Given the description of an element on the screen output the (x, y) to click on. 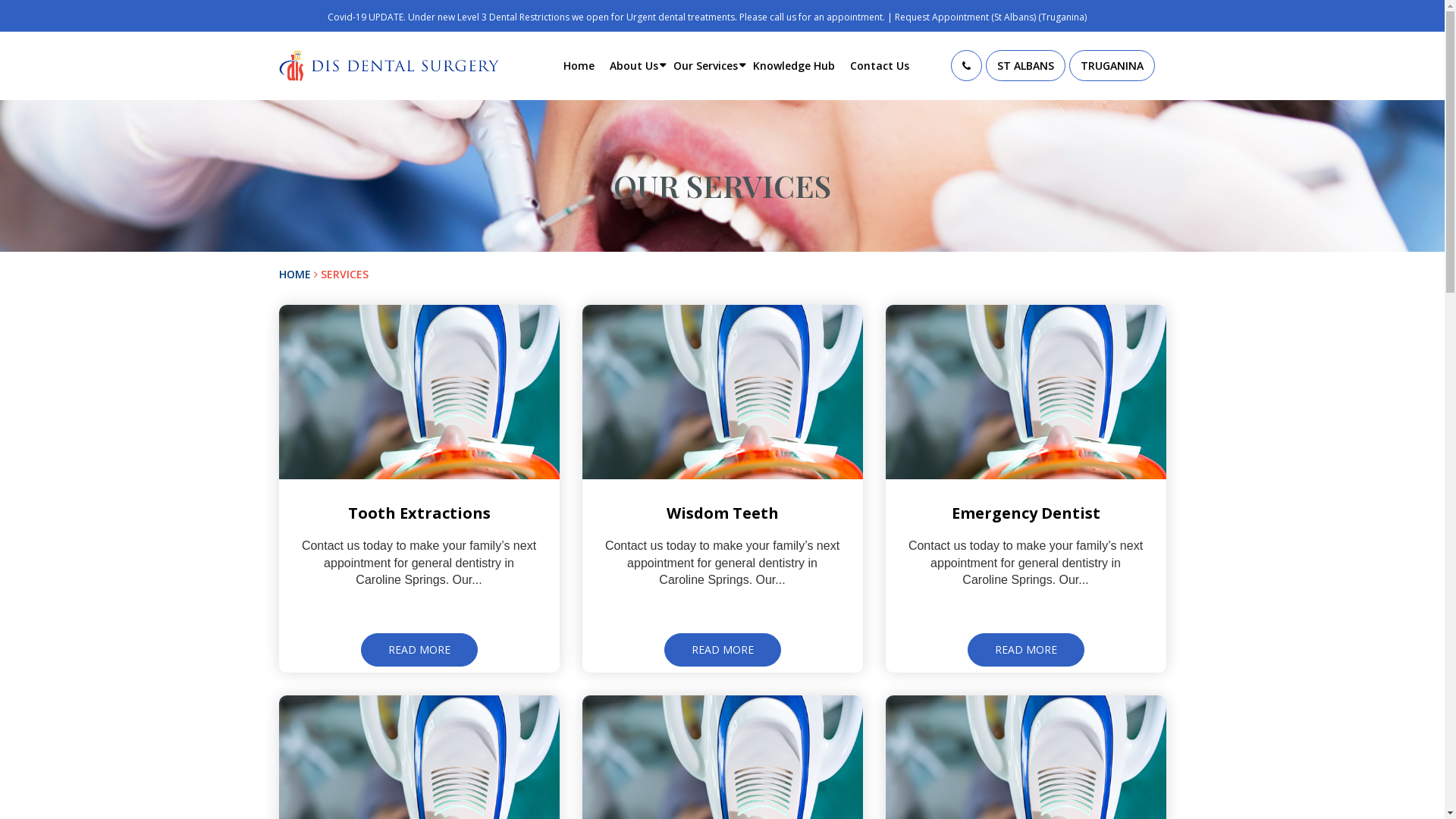
(St Albans) Element type: text (1013, 16)
Contact Us Element type: text (879, 65)
READ MORE Element type: text (418, 649)
TRUGANINA Element type: text (1111, 65)
Tooth Extractions Element type: text (418, 512)
Home Element type: text (578, 65)
READ MORE Element type: text (722, 649)
READ MORE Element type: text (1025, 649)
ST ALBANS Element type: text (1025, 65)
HOME Element type: text (294, 273)
About Us Element type: text (633, 65)
Knowledge Hub Element type: text (793, 65)
Wisdom Teeth Element type: text (721, 512)
Our Services Element type: text (705, 65)
Emergency Dentist Element type: text (1024, 512)
(Truganina) Element type: text (1062, 16)
